Given the description of an element on the screen output the (x, y) to click on. 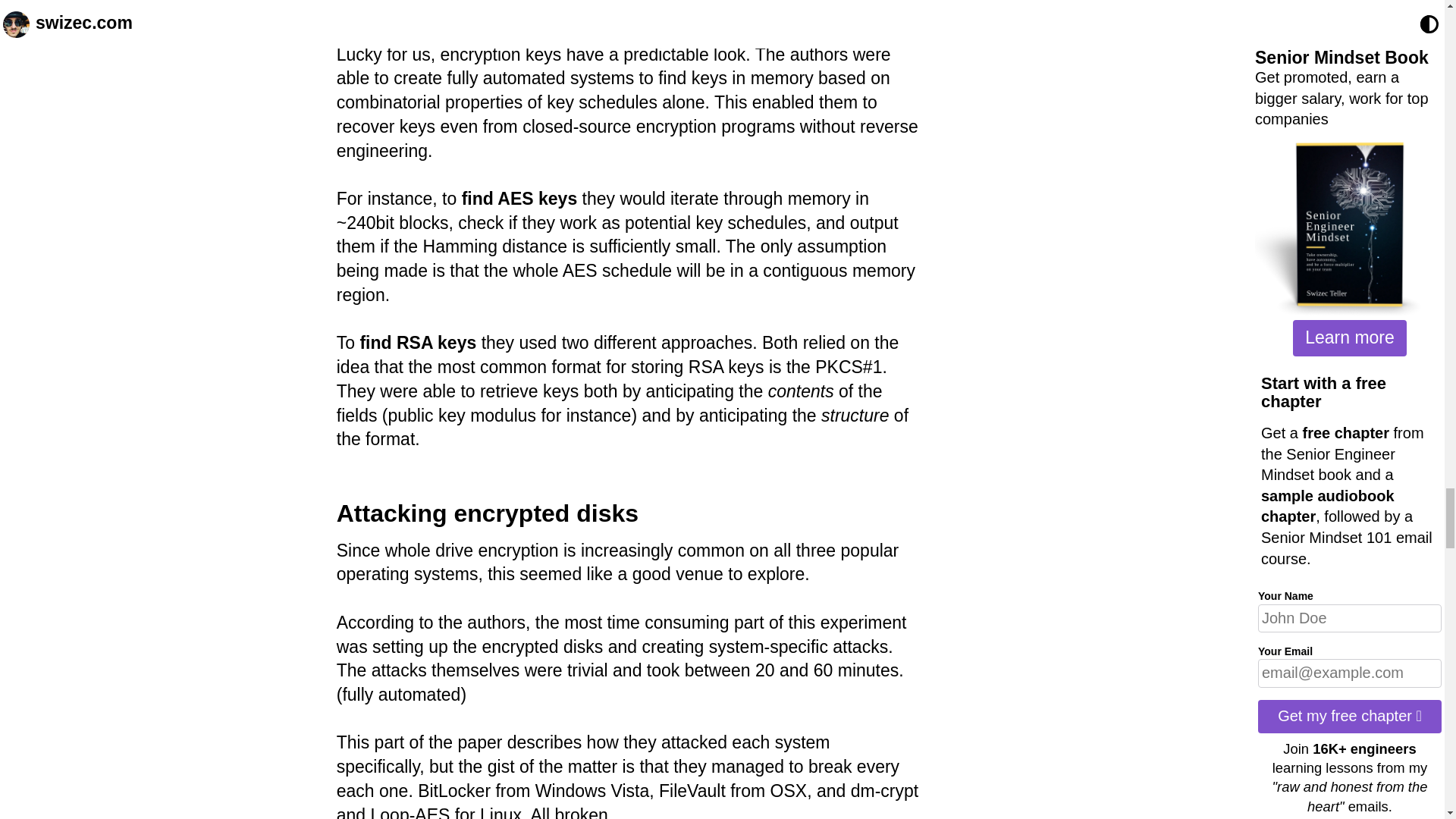
Attacking encrypted disks (487, 513)
